Given the description of an element on the screen output the (x, y) to click on. 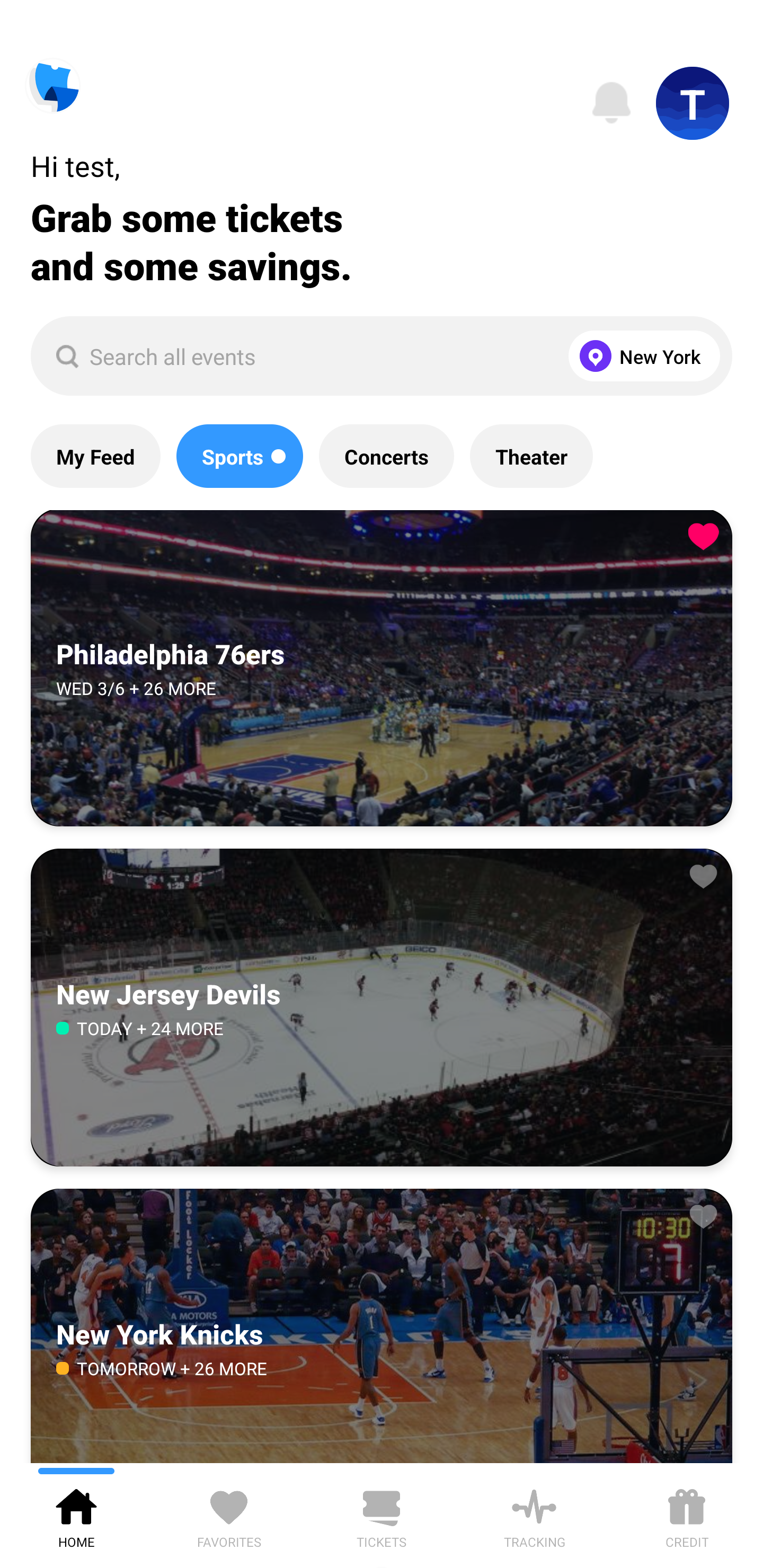
T (692, 103)
New York (640, 355)
My Feed (95, 455)
Sports (239, 455)
Concerts (385, 455)
Theater (531, 455)
HOME (76, 1515)
FAVORITES (228, 1515)
TICKETS (381, 1515)
TRACKING (533, 1515)
CREDIT (686, 1515)
